Given the description of an element on the screen output the (x, y) to click on. 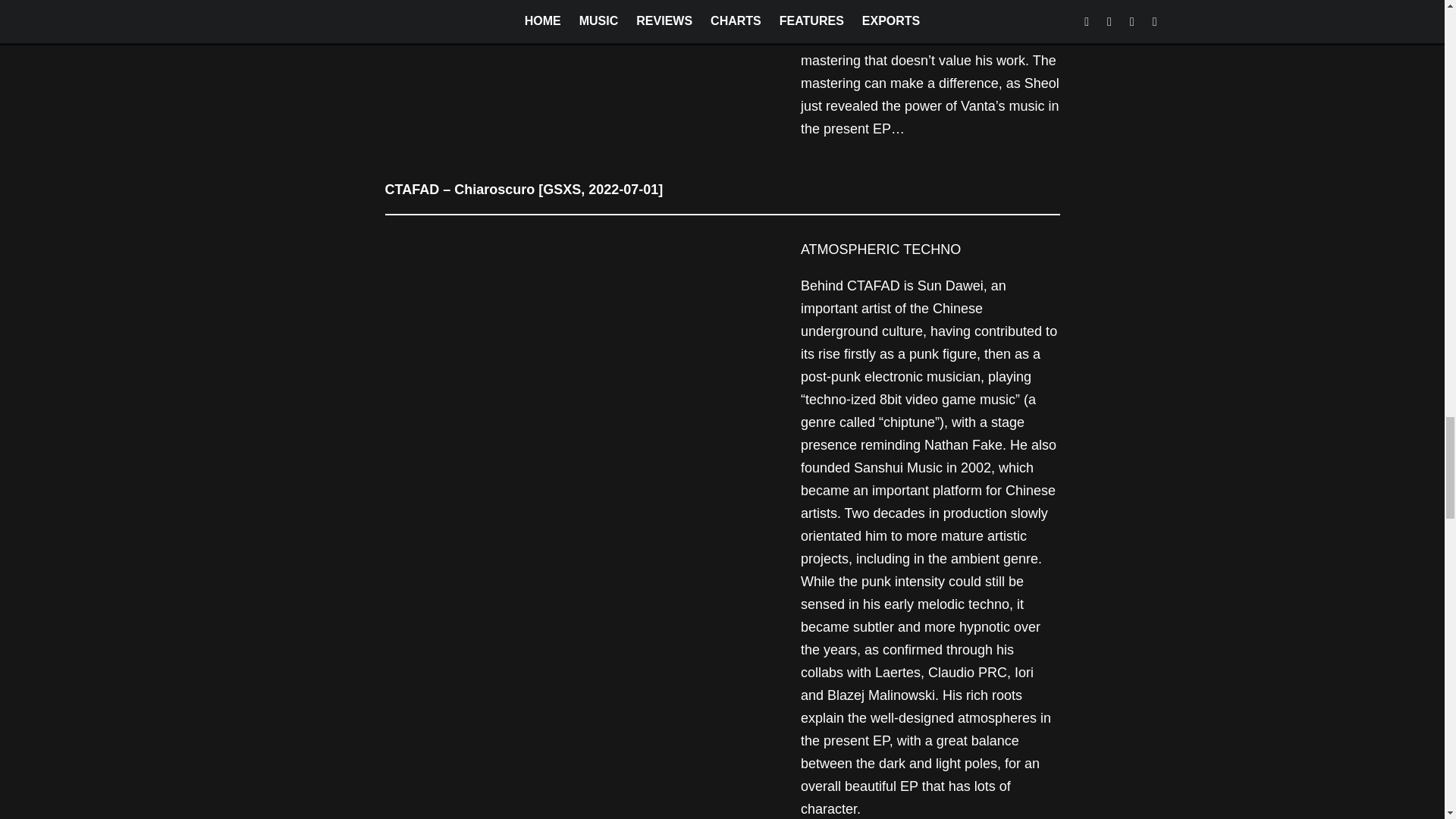
Nathan Fake (963, 444)
Sanshui Music (897, 467)
collabs (821, 672)
